Given the description of an element on the screen output the (x, y) to click on. 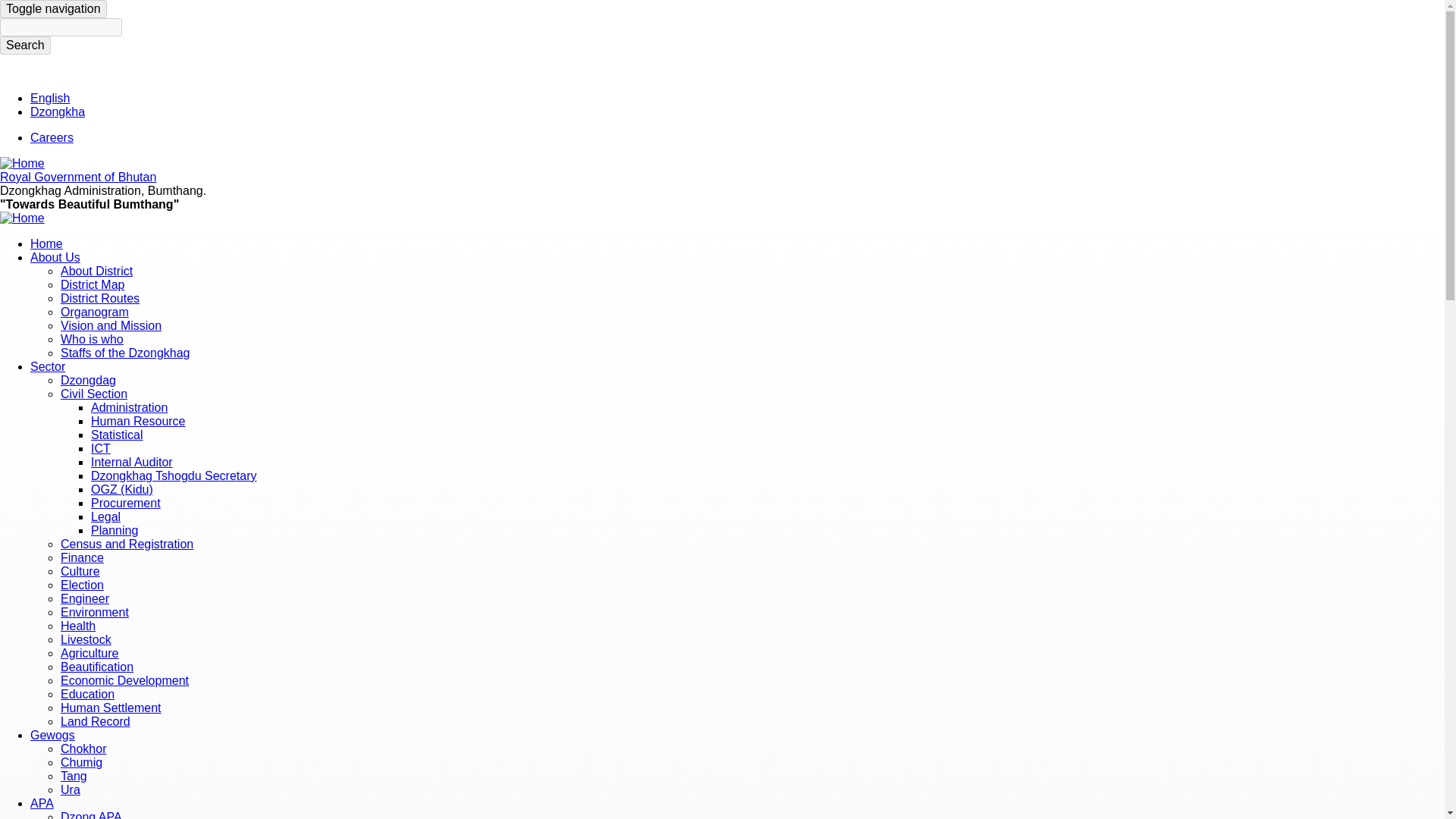
Dzongkha (57, 111)
Royal Government of Bhutan (77, 176)
Election (82, 584)
About District (96, 270)
Sector (47, 366)
Census and Registration (127, 543)
Toggle navigation (53, 9)
Civil Section (94, 393)
Home (46, 243)
Search (25, 45)
Organogram (95, 311)
Engineer (85, 598)
ICT (100, 448)
Administration (128, 407)
A (1392, 68)
